Given the description of an element on the screen output the (x, y) to click on. 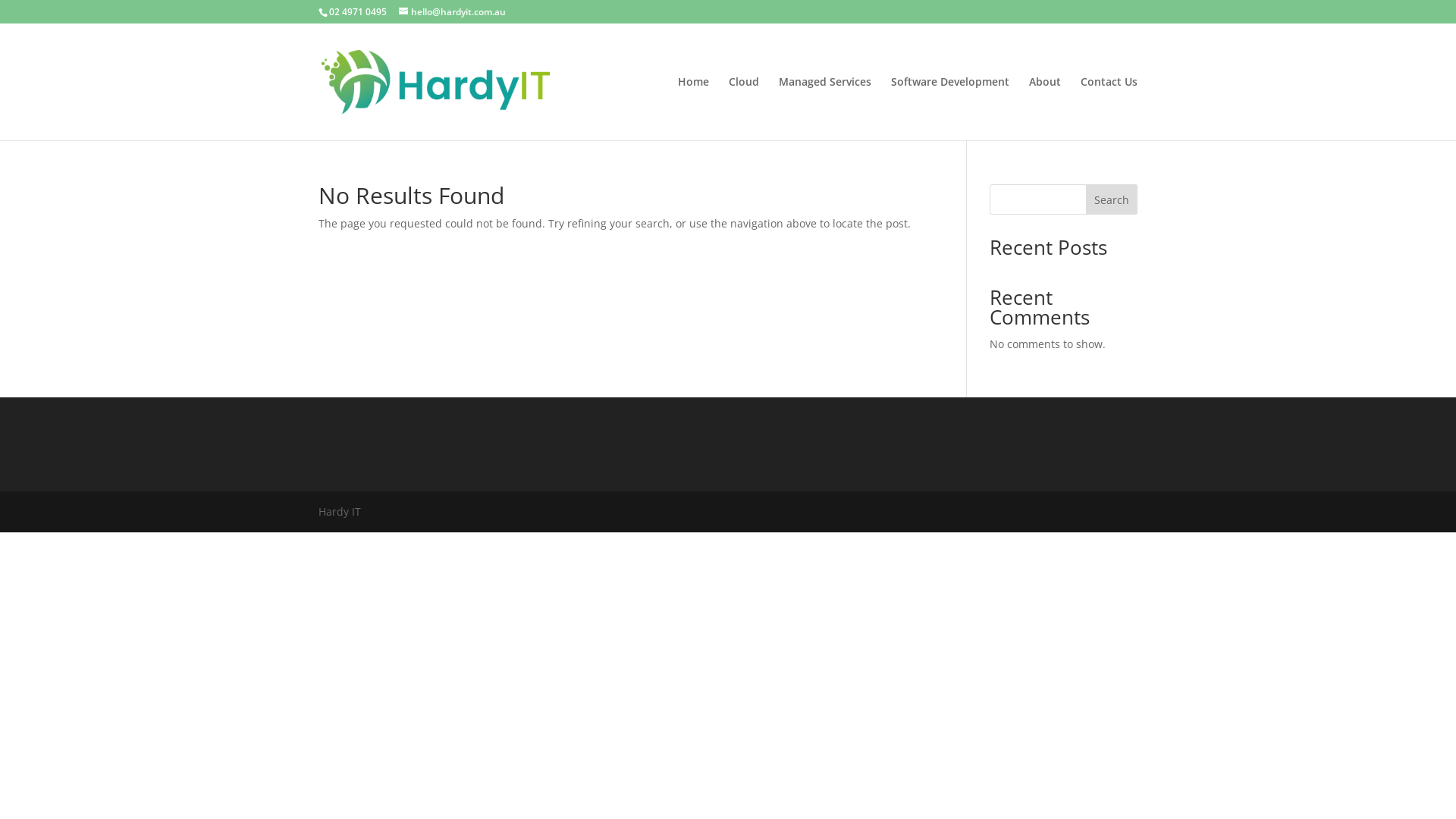
About Element type: text (1044, 108)
Cloud Element type: text (743, 108)
Software Development Element type: text (950, 108)
Contact Us Element type: text (1108, 108)
Managed Services Element type: text (824, 108)
Home Element type: text (693, 108)
hello@hardyit.com.au Element type: text (451, 11)
Search Element type: text (1111, 199)
